Given the description of an element on the screen output the (x, y) to click on. 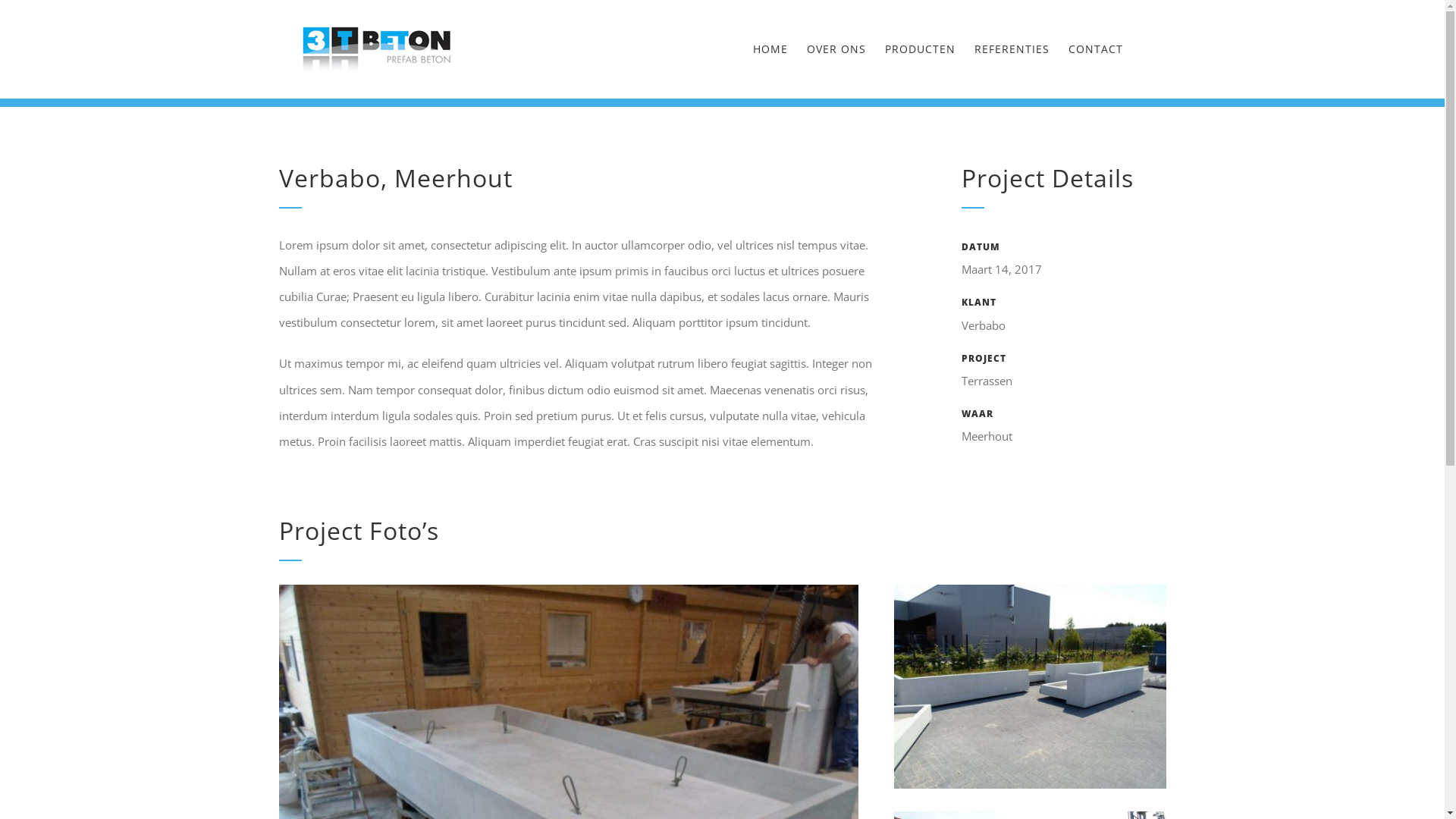
PRODUCTEN Element type: text (919, 49)
HOME Element type: text (770, 49)
OVER ONS Element type: text (836, 49)
SAM_0207 Element type: hover (1030, 589)
SAM_0191 Element type: hover (568, 589)
CONTACT Element type: text (1095, 49)
REFERENTIES Element type: text (1011, 49)
